Given the description of an element on the screen output the (x, y) to click on. 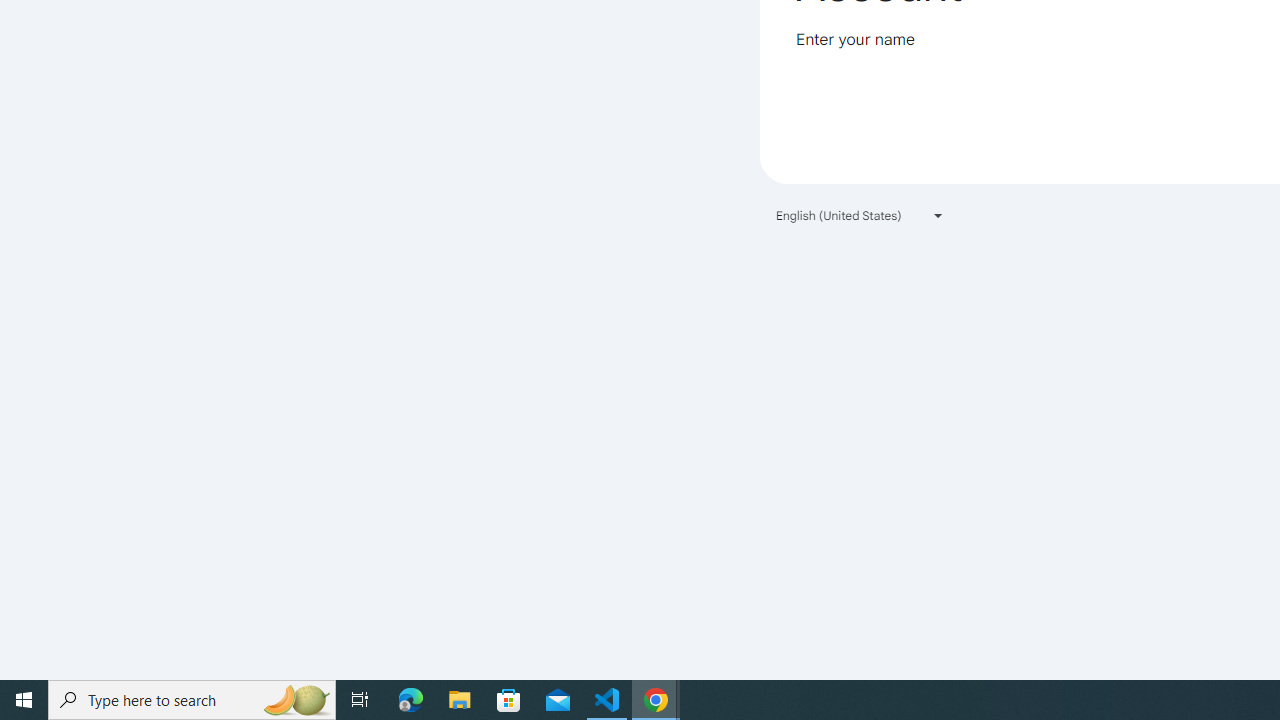
English (United States) (860, 214)
